Given the description of an element on the screen output the (x, y) to click on. 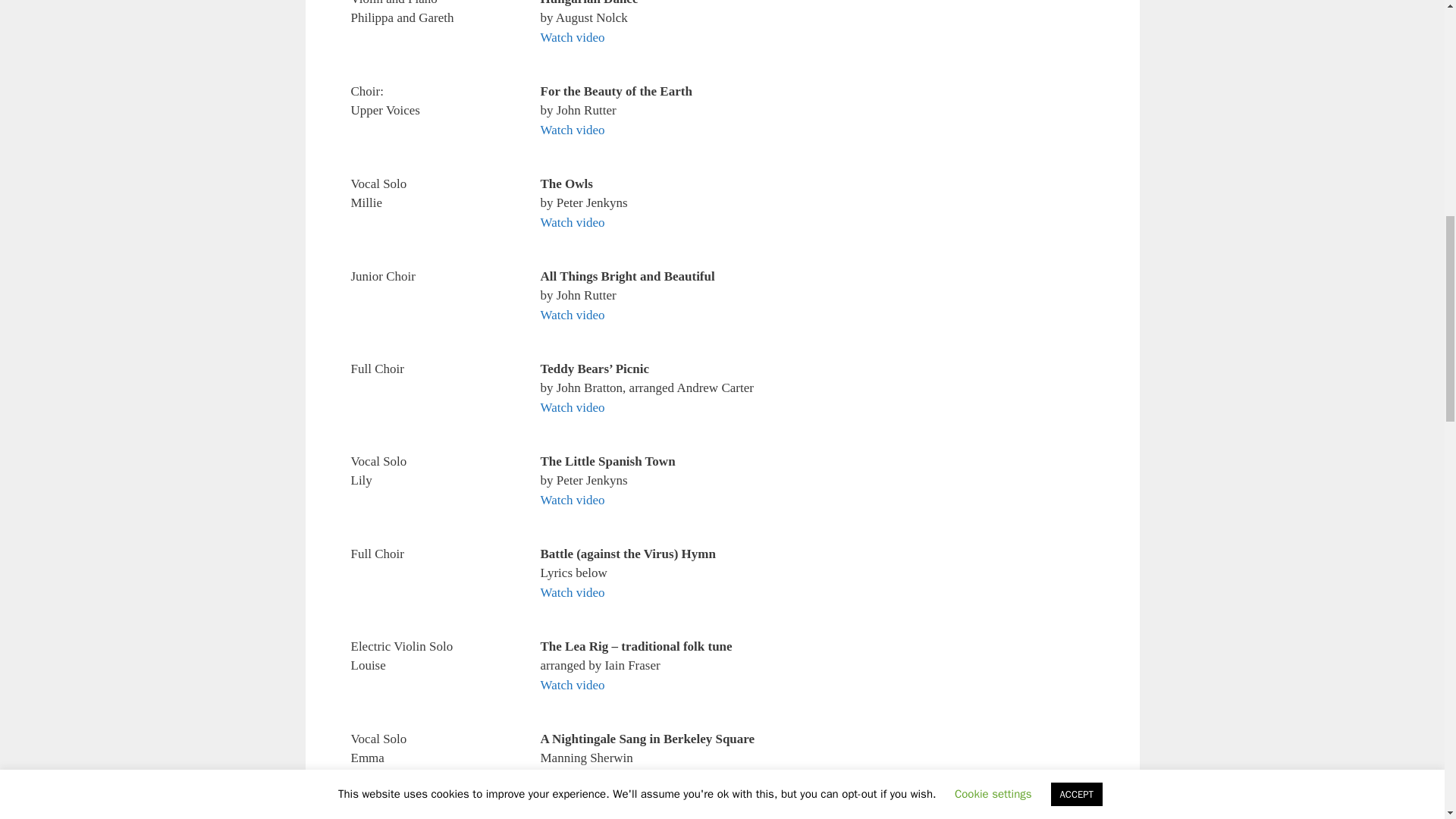
Watch video (572, 407)
Watch video (572, 129)
Watch video (572, 592)
Watch video (572, 685)
Watch video (572, 37)
Watch video (572, 222)
Watch video (572, 777)
Watch video (572, 314)
Watch video (572, 499)
